Given the description of an element on the screen output the (x, y) to click on. 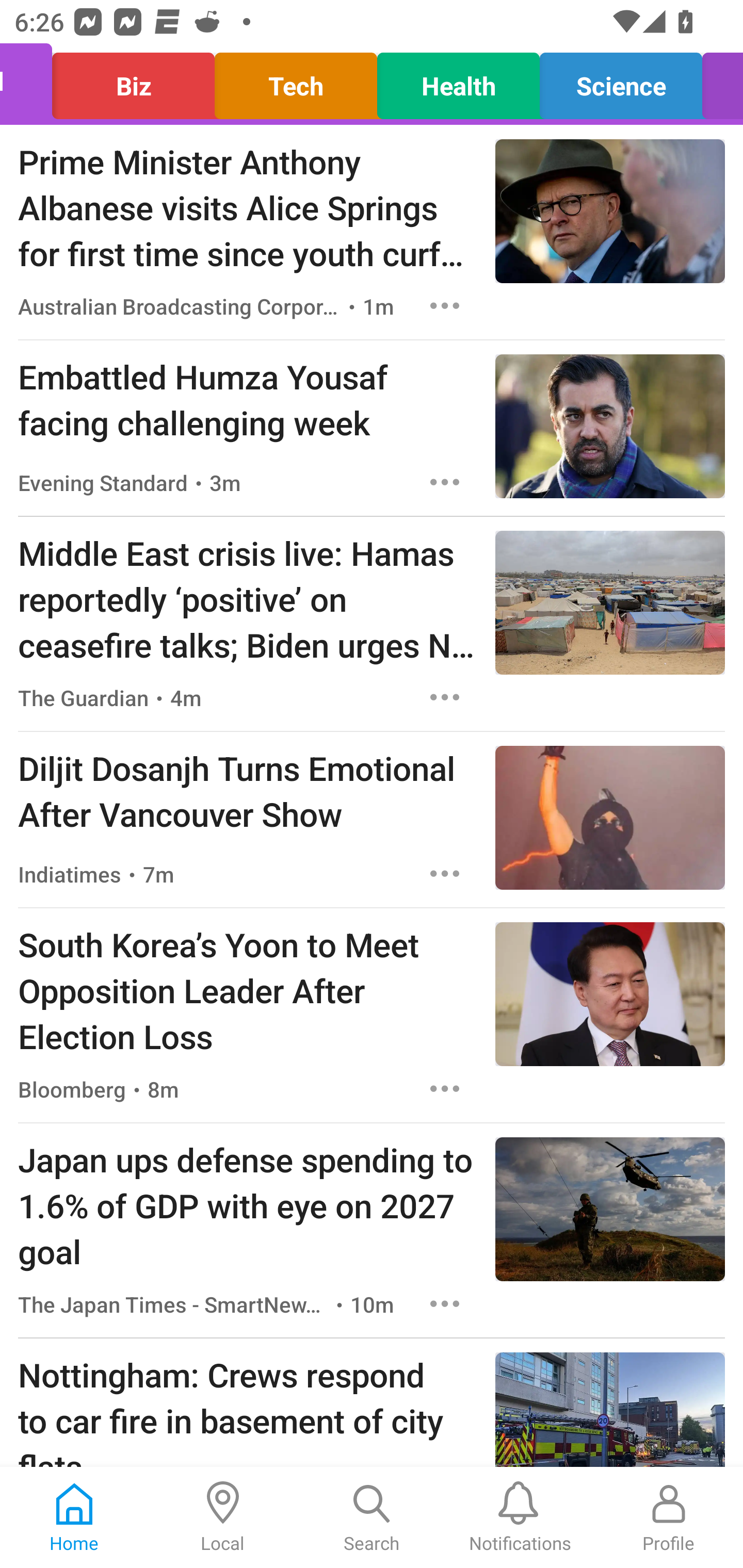
Biz (133, 81)
Tech (295, 81)
Health (458, 81)
Science (621, 81)
Options (444, 305)
Options (444, 481)
Options (444, 697)
Options (444, 873)
Options (444, 1088)
Options (444, 1303)
Local (222, 1517)
Search (371, 1517)
Notifications (519, 1517)
Profile (668, 1517)
